Given the description of an element on the screen output the (x, y) to click on. 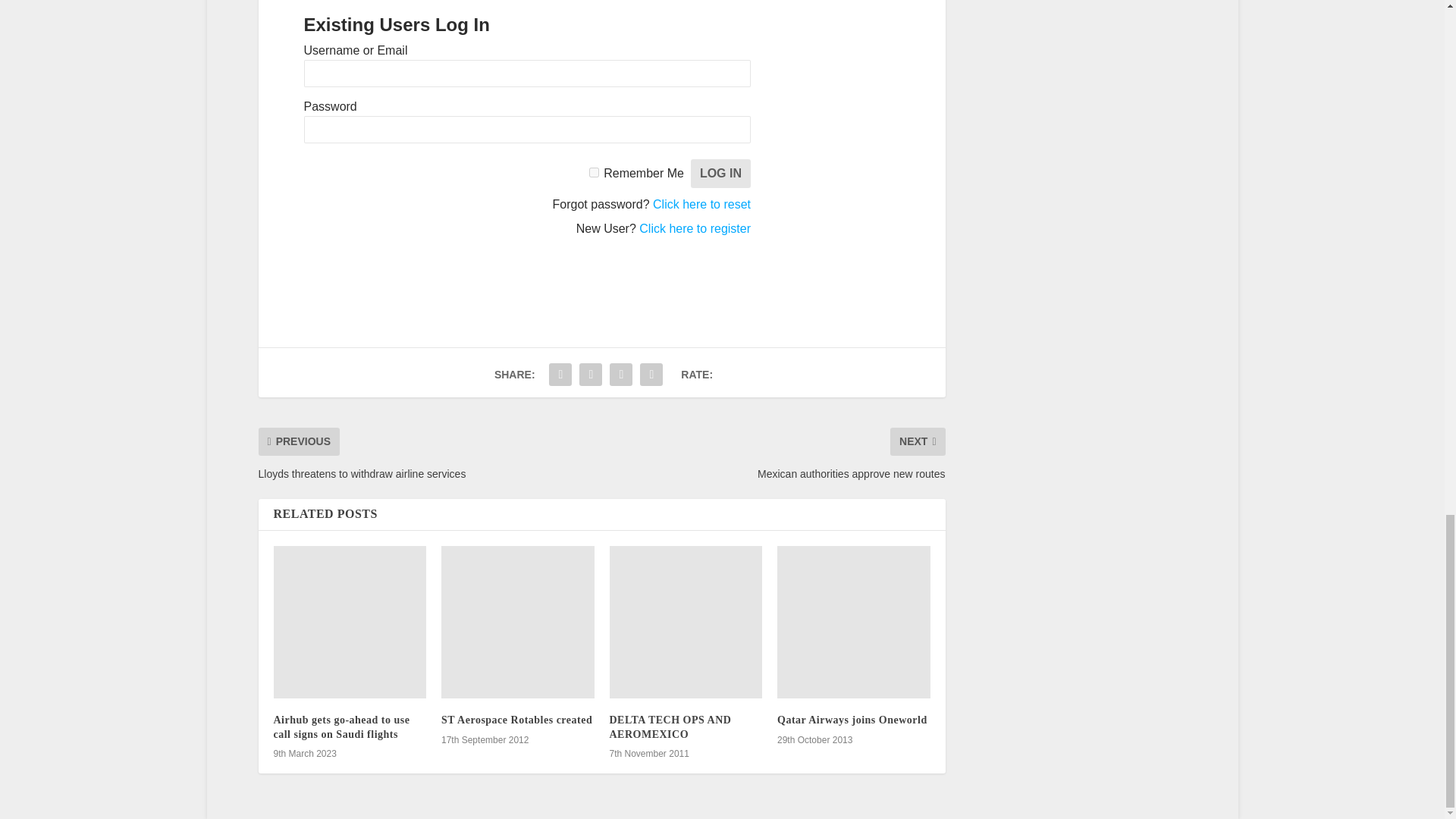
Log In (720, 173)
Share "Azman Air awards MRO contract to VD Gulf" via Print (651, 374)
Share "Azman Air awards MRO contract to VD Gulf" via Twitter (559, 374)
Share "Azman Air awards MRO contract to VD Gulf" via Email (620, 374)
DELTA TECH OPS AND AEROMEXICO (686, 622)
ST Aerospace Rotables created (517, 622)
Qatar Airways joins Oneworld (853, 622)
Airhub gets go-ahead to use call signs on Saudi flights (349, 622)
forever (593, 172)
